Given the description of an element on the screen output the (x, y) to click on. 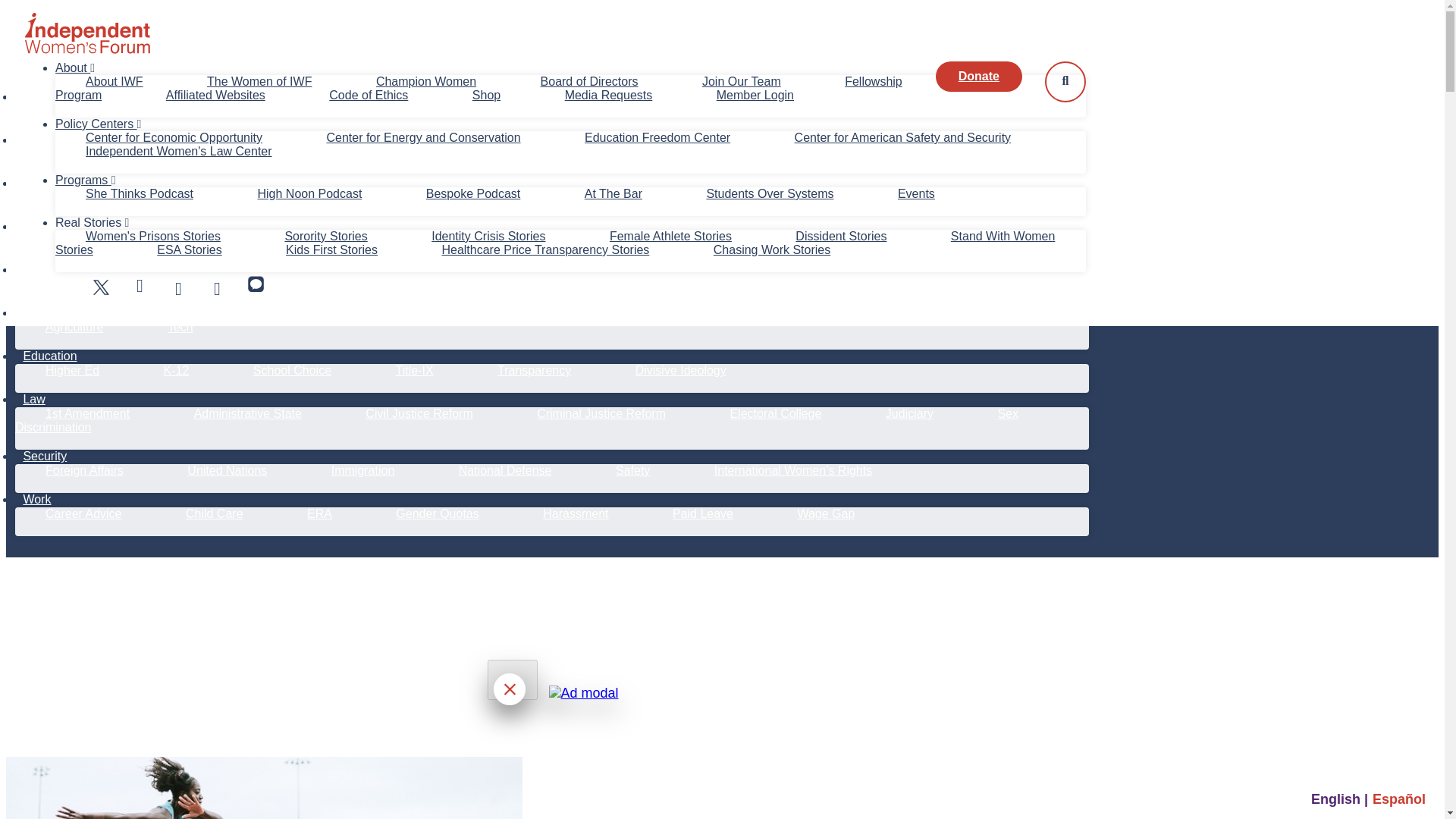
About IWF (114, 81)
Events (916, 193)
Dissident Stories (841, 235)
Donate (979, 76)
Affiliated Websites (215, 94)
Independent Women's Law Center (178, 151)
Board of Directors (589, 81)
About (74, 67)
Shop (486, 94)
Education Freedom Center (657, 137)
Identity Crisis Stories (488, 235)
Champion Women (426, 81)
Female Athlete Stories (670, 235)
ESA Stories (188, 249)
Policy Centers (98, 123)
